Given the description of an element on the screen output the (x, y) to click on. 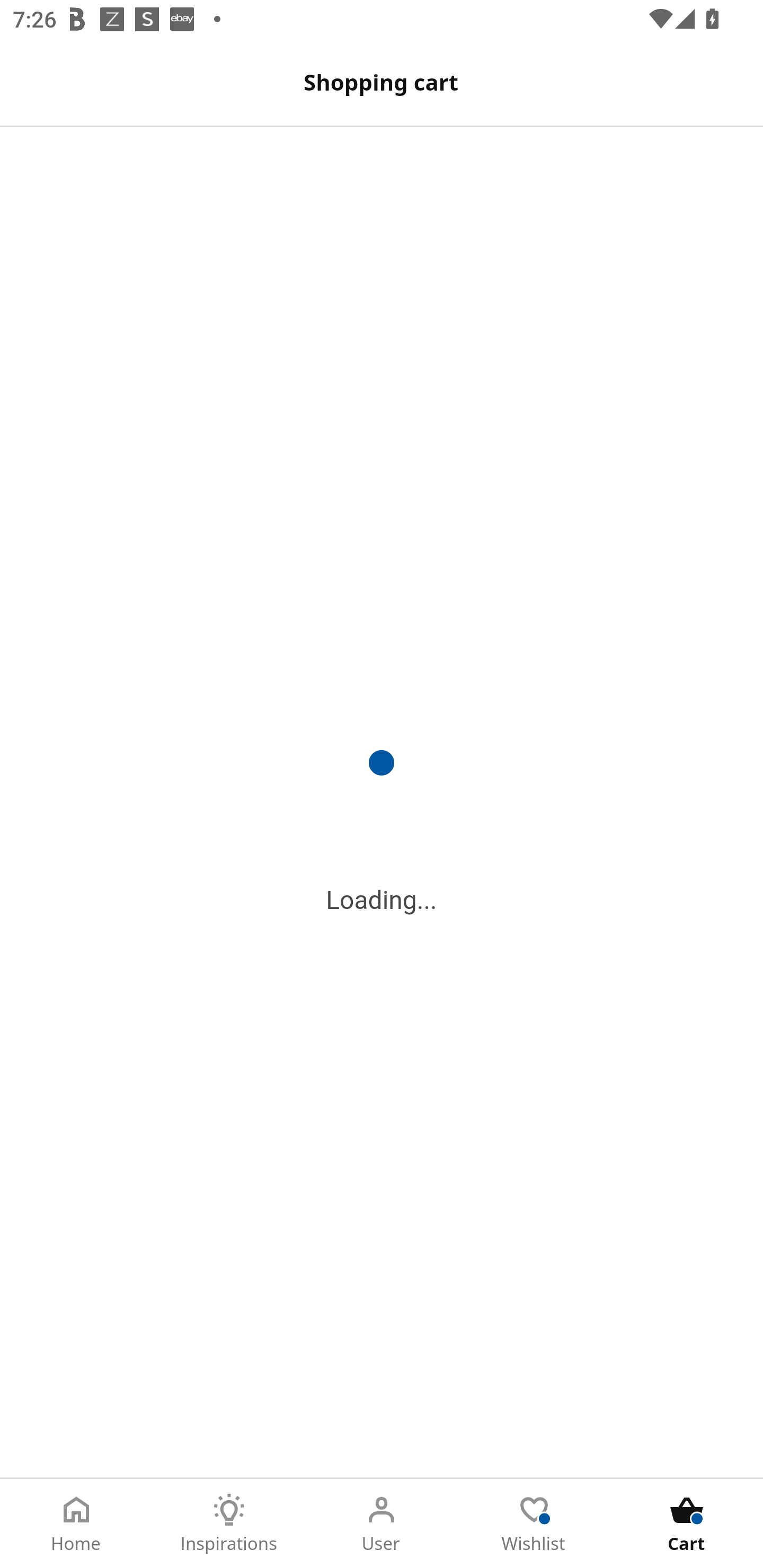
Home
Tab 1 of 5 (76, 1522)
Inspirations
Tab 2 of 5 (228, 1522)
User
Tab 3 of 5 (381, 1522)
Wishlist
Tab 4 of 5 (533, 1522)
Cart
Tab 5 of 5 (686, 1522)
